Given the description of an element on the screen output the (x, y) to click on. 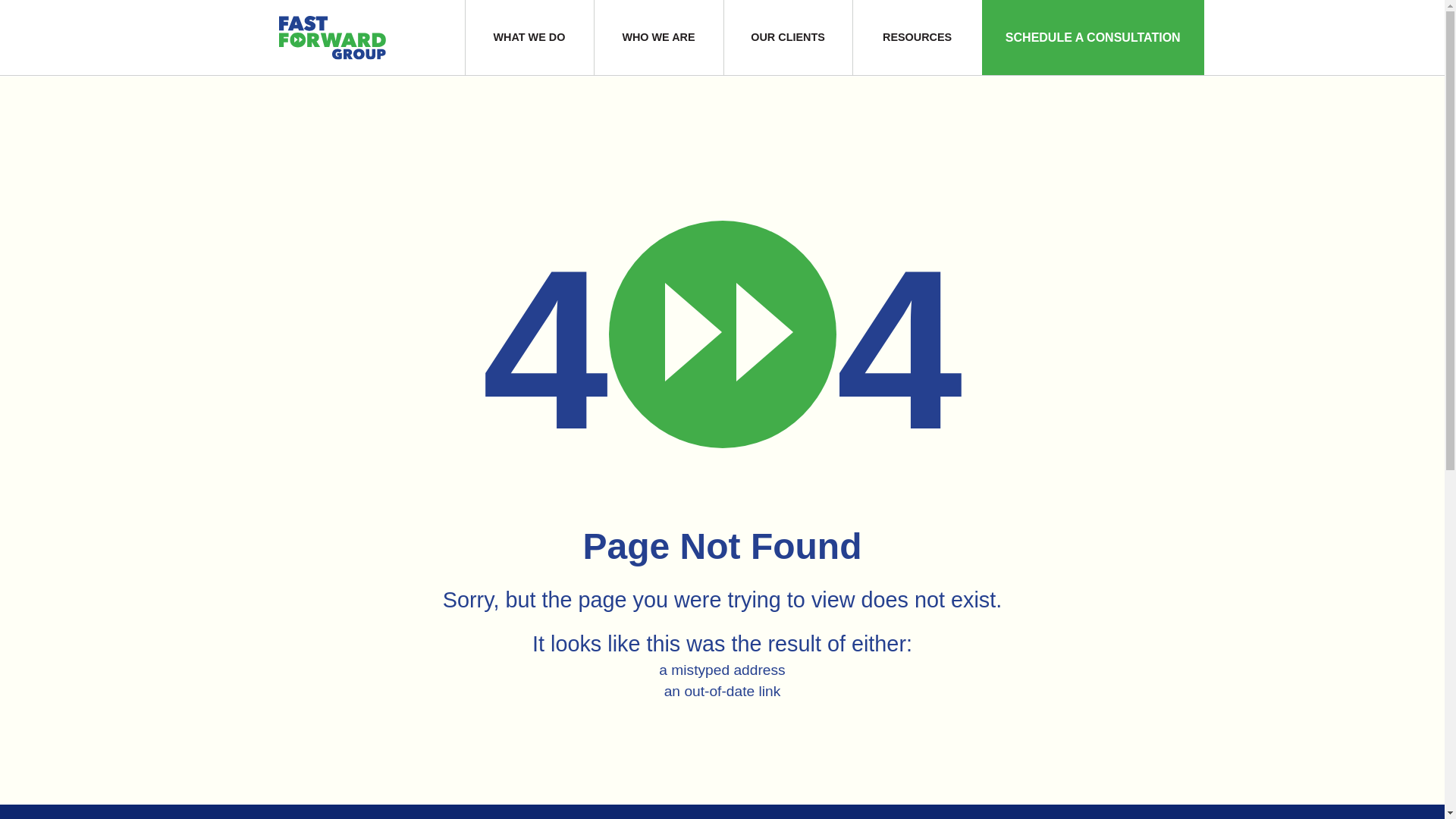
OUR CLIENTS (787, 37)
RESOURCES (916, 37)
WHAT WE DO (529, 37)
WHO WE ARE (658, 37)
SCHEDULE A CONSULTATION (1092, 37)
